Given the description of an element on the screen output the (x, y) to click on. 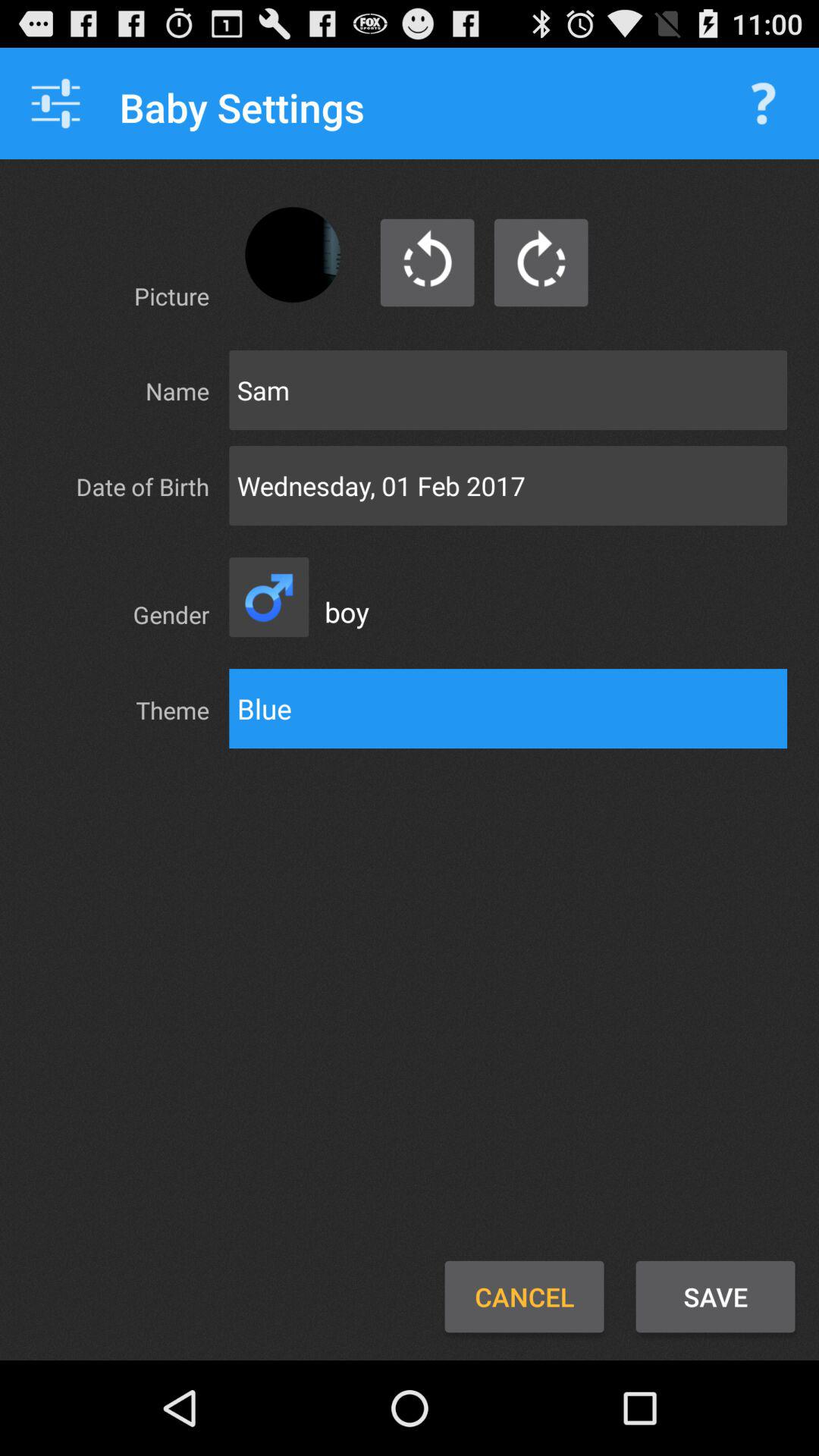
opens help menu (763, 103)
